Given the description of an element on the screen output the (x, y) to click on. 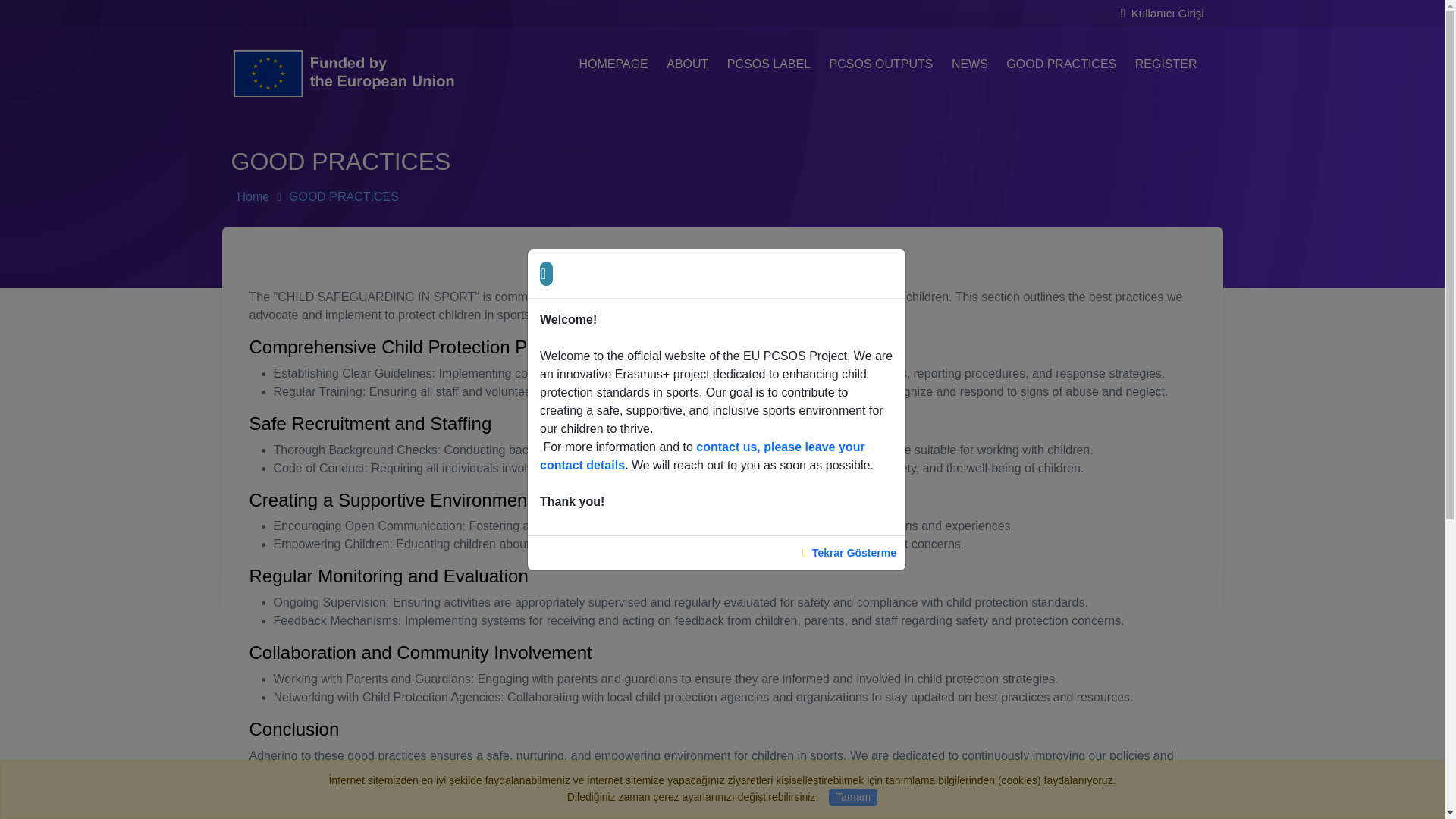
Tamam (852, 796)
GOOD PRACTICES (1061, 64)
REGISTER (1165, 64)
HOMEPAGE (612, 64)
NEWS (969, 64)
PCSOS LABEL (768, 64)
Home (252, 196)
GOOD PRACTICES (343, 196)
PCSOS OUTPUTS (881, 64)
contact us, please leave your contact details (702, 454)
ABOUT (687, 64)
